Given the description of an element on the screen output the (x, y) to click on. 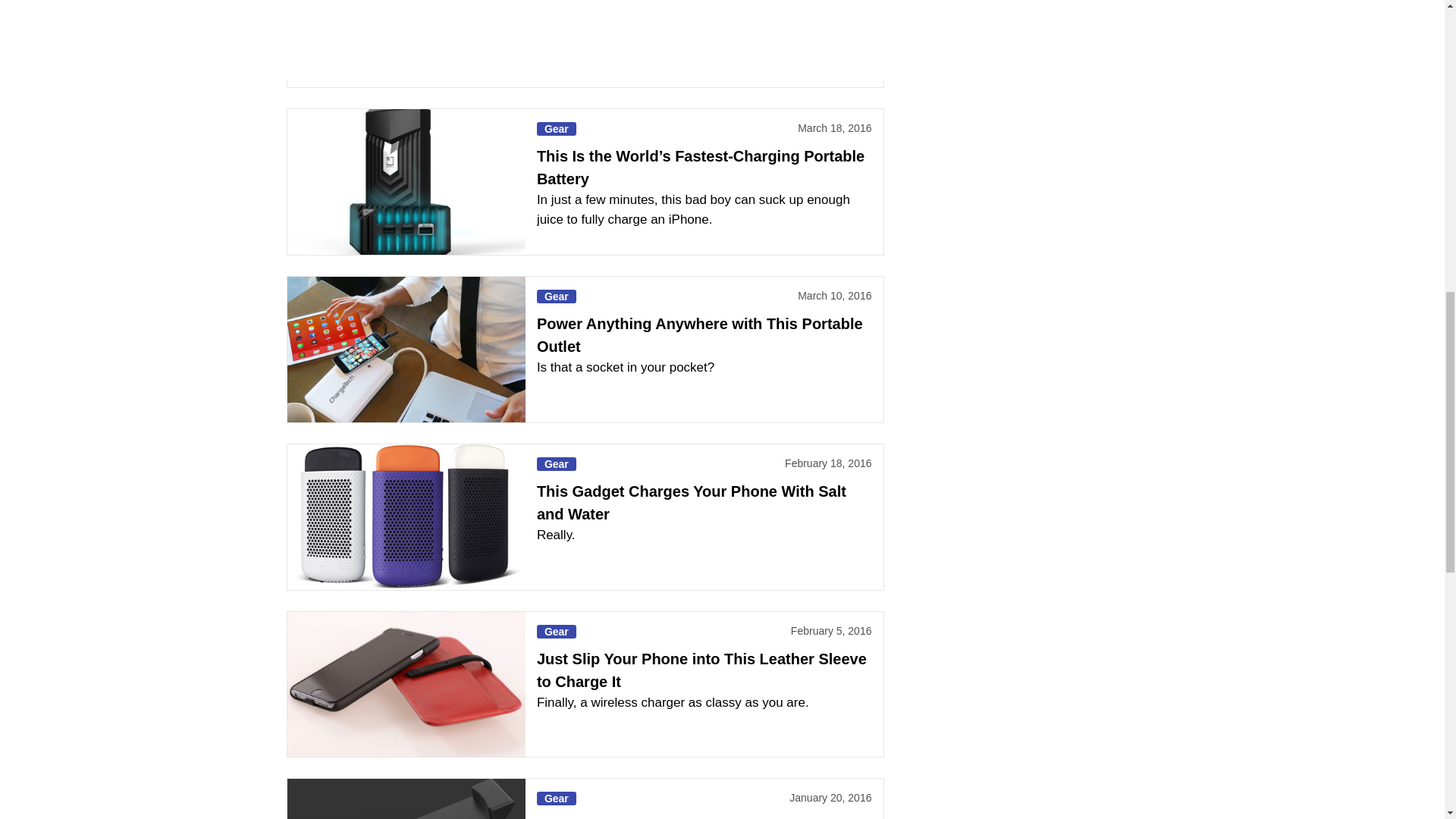
Just Slip Your Phone into This Leather Sleeve to Charge It (405, 684)
Power Anything Anywhere with This Portable Outlet (405, 349)
This Hand-Powered Case Will Keep Your Phone from Dying (405, 798)
This Gadget Charges Your Phone With Salt and Water (405, 516)
